Given the description of an element on the screen output the (x, y) to click on. 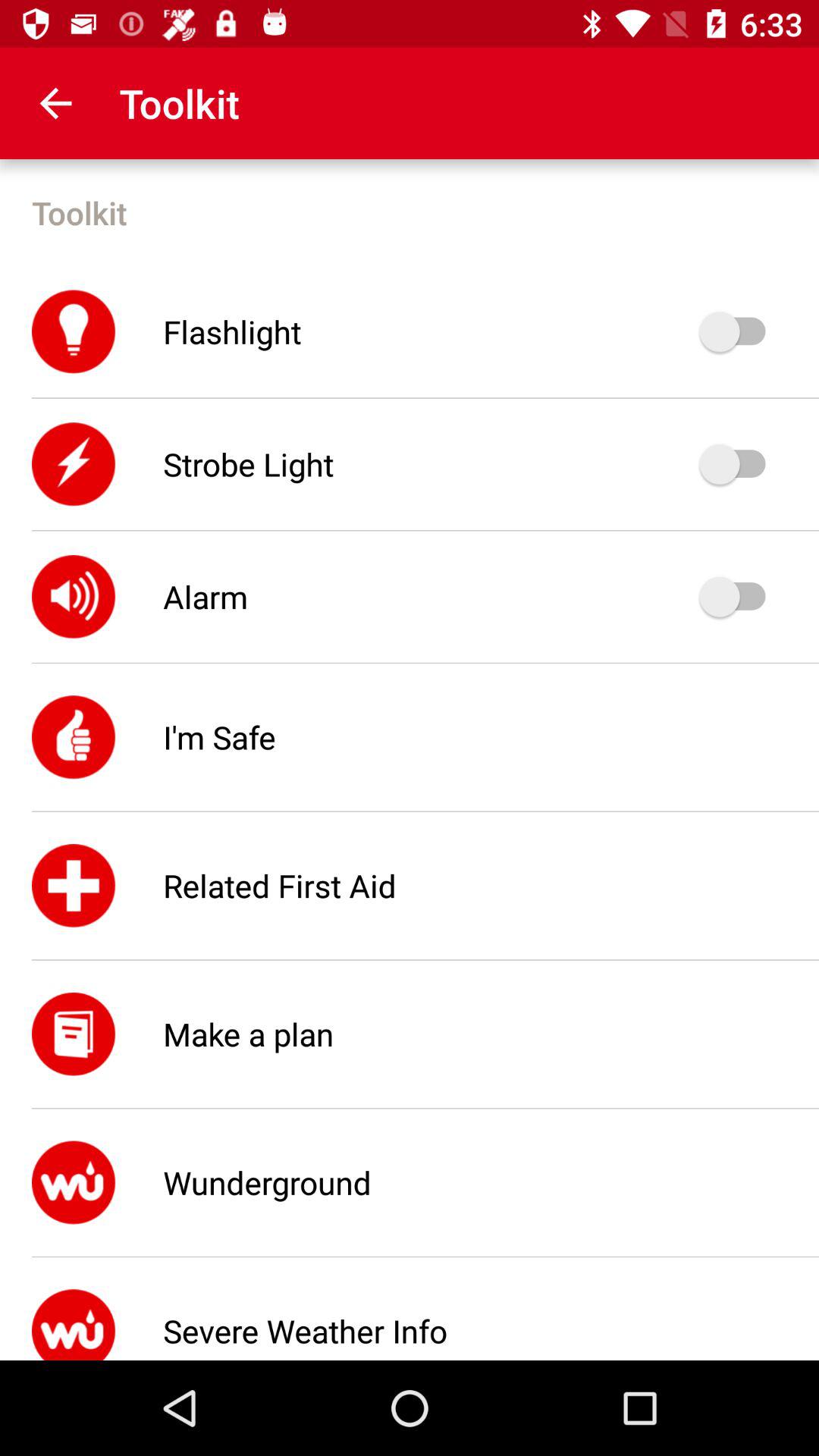
press the icon above the toolkit icon (55, 103)
